Given the description of an element on the screen output the (x, y) to click on. 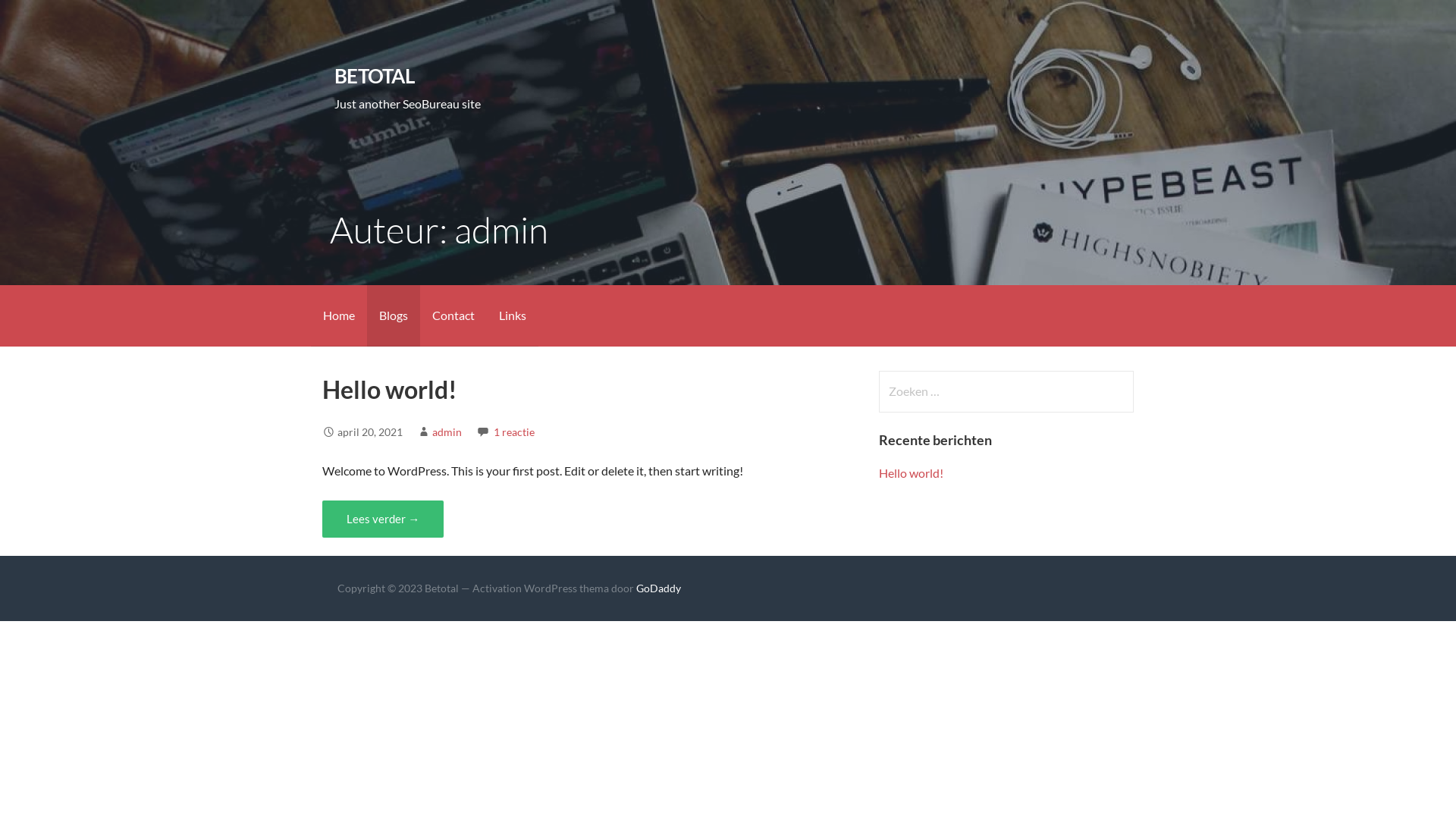
1 reactie Element type: text (513, 431)
Home Element type: text (338, 315)
GoDaddy Element type: text (658, 587)
Hello world! Element type: text (910, 472)
admin Element type: text (446, 431)
Hello world! Element type: text (389, 389)
Contact Element type: text (453, 315)
Blogs Element type: text (393, 315)
Links Element type: text (512, 315)
BETOTAL Element type: text (374, 75)
Zoeken Element type: text (42, 18)
